Given the description of an element on the screen output the (x, y) to click on. 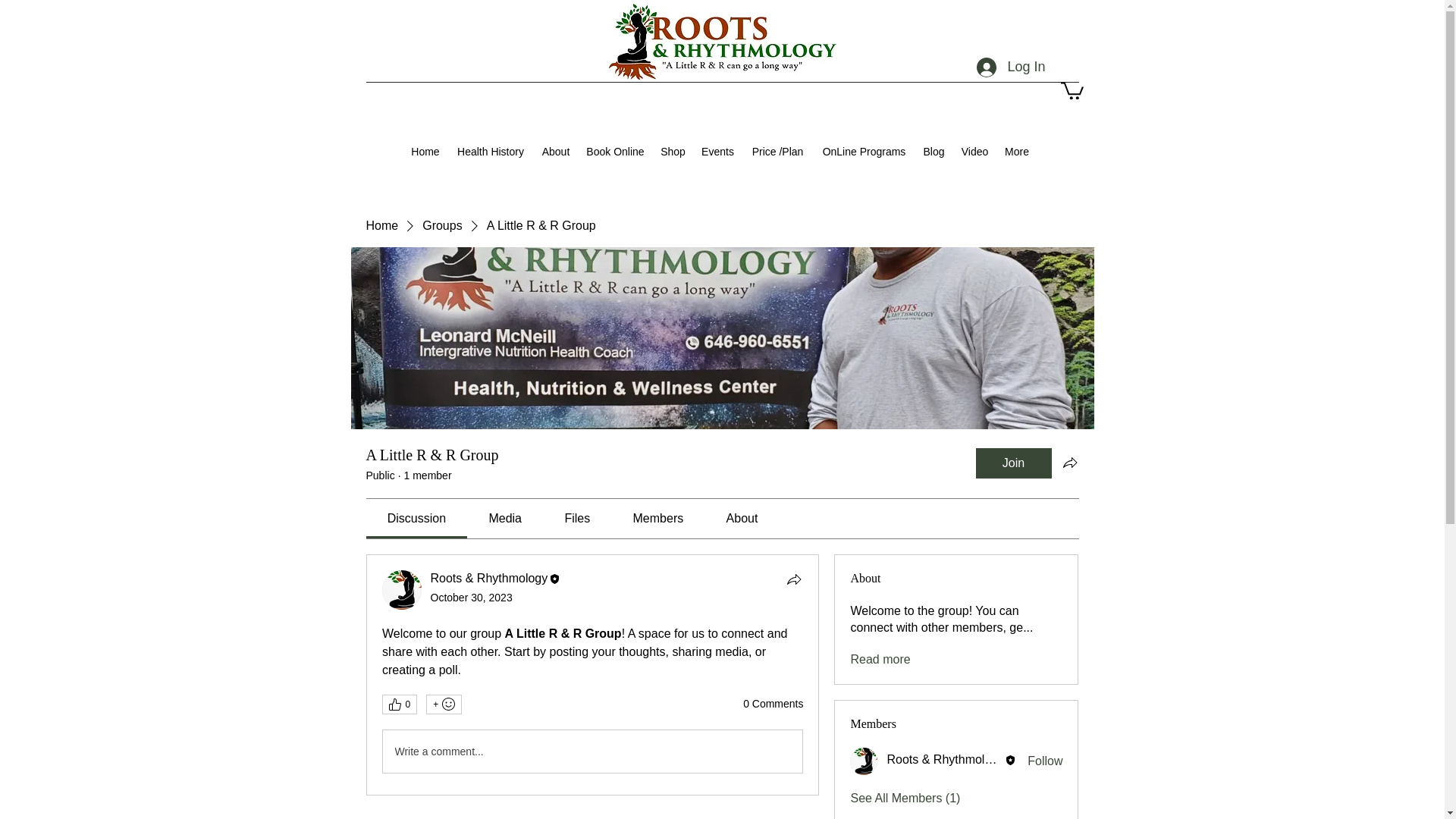
Read more (880, 659)
Shop (672, 151)
Join (1013, 462)
Blog (933, 151)
October 30, 2023 (471, 597)
Events (717, 151)
0 Comments (772, 703)
Home (425, 151)
Book Online (615, 151)
Write a comment... (591, 751)
Health History (489, 151)
Follow (1044, 760)
Video (973, 151)
OnLine Programs (863, 151)
